Given the description of an element on the screen output the (x, y) to click on. 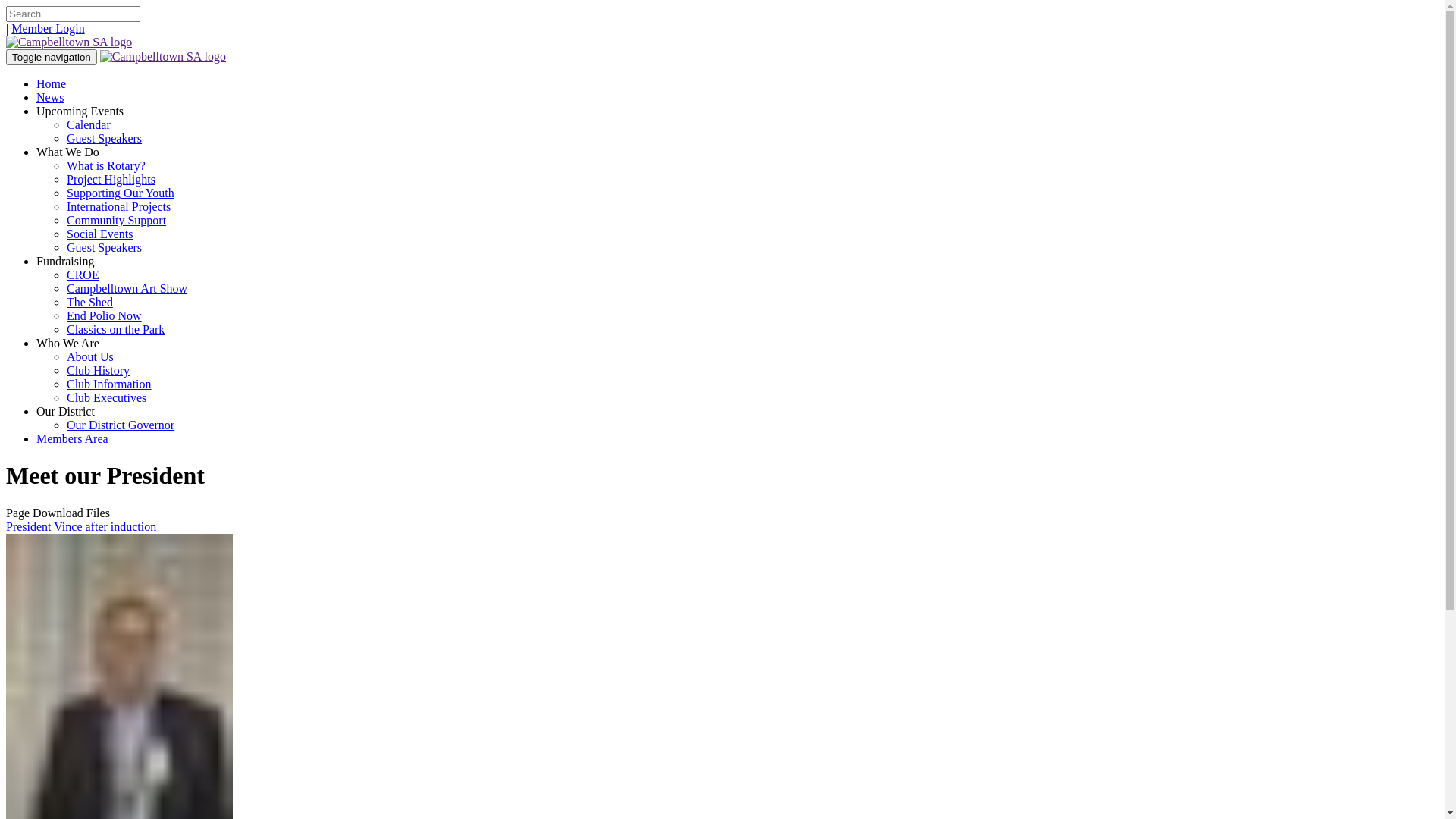
What is Rotary? Element type: text (105, 165)
Guest Speakers Element type: text (103, 247)
Guest Speakers Element type: text (103, 137)
International Projects Element type: text (118, 206)
The Shed Element type: text (89, 301)
Members Area Element type: text (72, 438)
CROE Element type: text (82, 274)
President Vince after induction Element type: text (81, 526)
Upcoming Events Element type: text (79, 110)
Our District Element type: text (65, 410)
Club Executives Element type: text (106, 397)
About Us Element type: text (89, 356)
Toggle navigation Element type: text (51, 57)
Member Login Element type: text (47, 27)
Who We Are Element type: text (67, 342)
Home Element type: text (50, 83)
Project Highlights Element type: text (110, 178)
Club Information Element type: text (108, 383)
Supporting Our Youth Element type: text (120, 192)
Fundraising Element type: text (65, 260)
End Polio Now Element type: text (103, 315)
Community Support Element type: text (116, 219)
Social Events Element type: text (99, 233)
Club History Element type: text (97, 370)
News Element type: text (49, 97)
What We Do Element type: text (67, 151)
Classics on the Park Element type: text (115, 329)
Campbelltown Art Show Element type: text (126, 288)
Calendar Element type: text (88, 124)
Our District Governor Element type: text (120, 424)
